Given the description of an element on the screen output the (x, y) to click on. 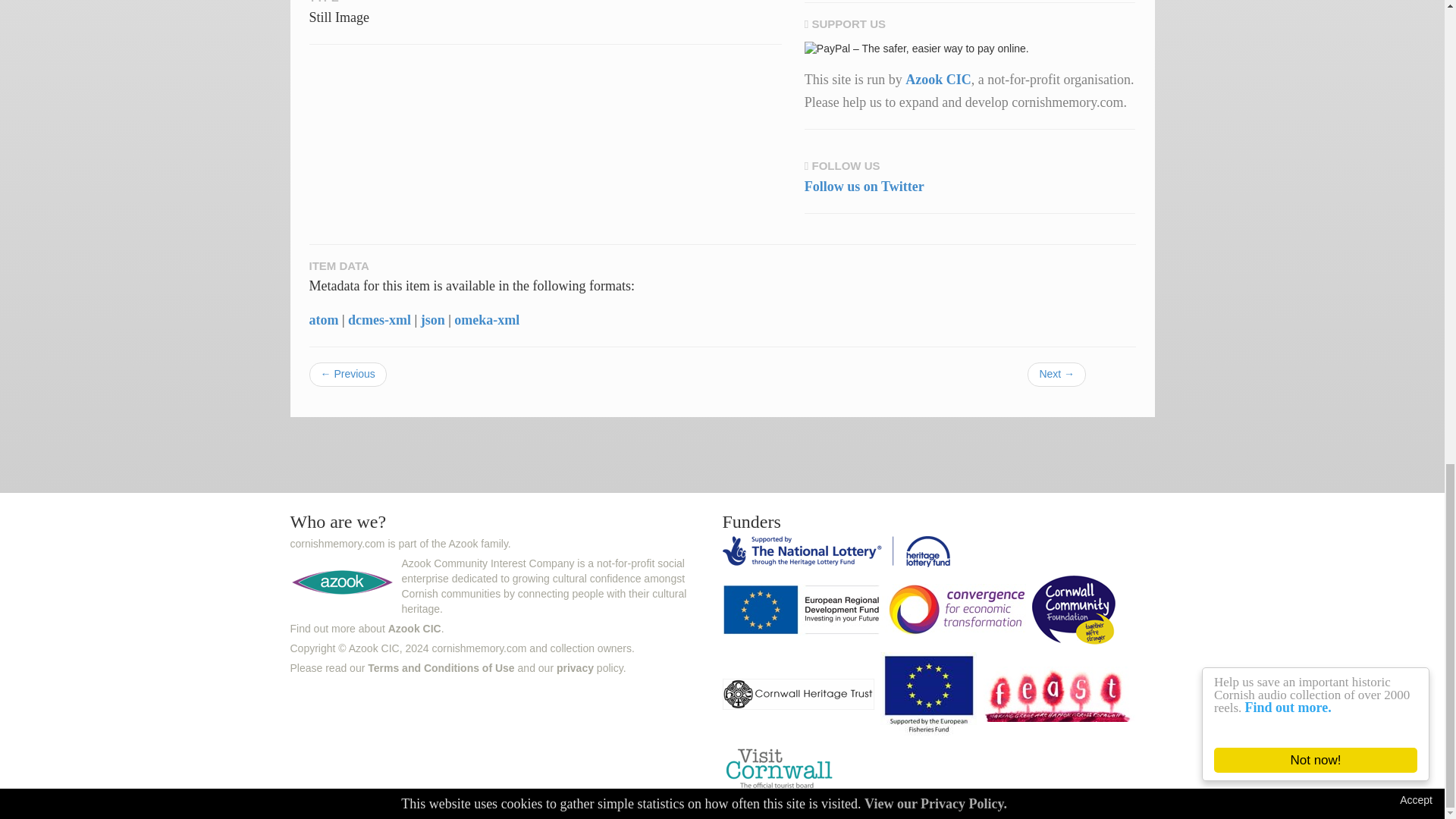
Terms and Conditions of Use (440, 667)
atom (323, 319)
Heritage Lottery Fund (837, 554)
Azook CIC (414, 628)
json (432, 319)
Azook CIC (938, 79)
FEAST (1061, 696)
Follow us on Twitter (864, 186)
Cornwall Heritage Trust (799, 696)
Terms and Conditions of Use (440, 667)
Cornwall Community Foundation (1075, 612)
European Regional Development Fund (875, 612)
omeka-xml (486, 319)
privacy (575, 667)
Visit Cornwall (781, 770)
